Given the description of an element on the screen output the (x, y) to click on. 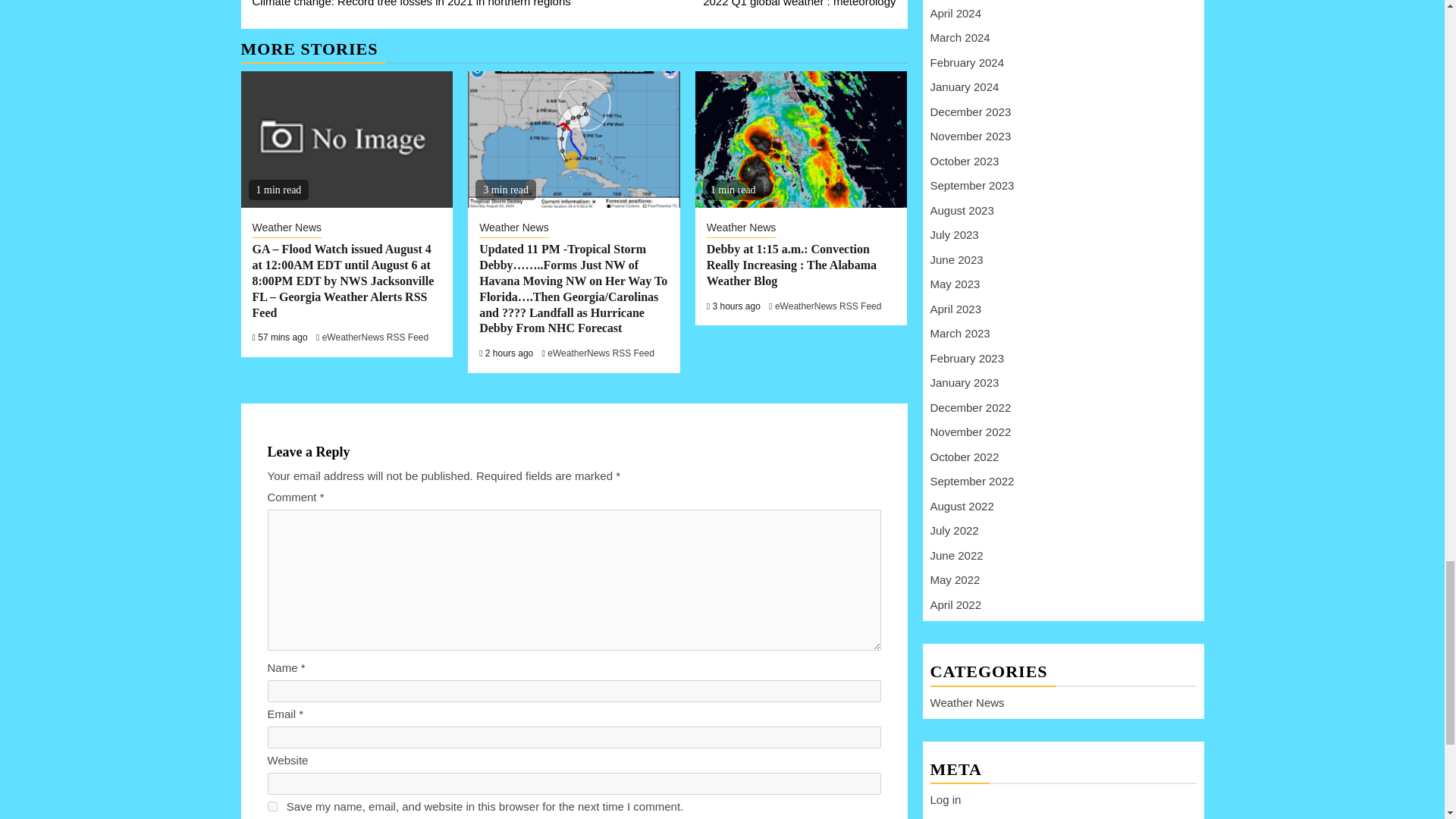
yes (271, 806)
